Given the description of an element on the screen output the (x, y) to click on. 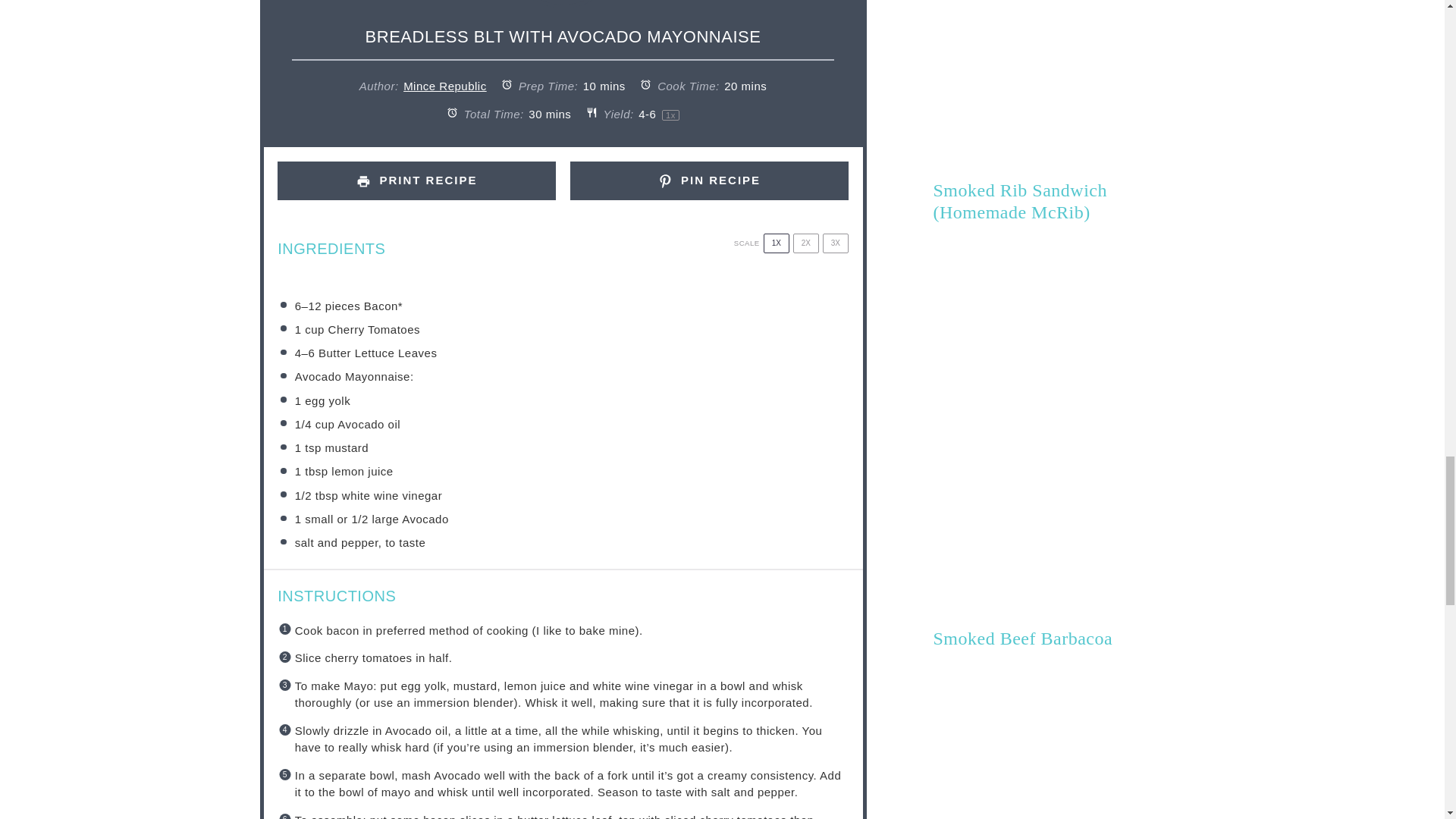
Smoked Beef Barbacoa (1022, 638)
